Given the description of an element on the screen output the (x, y) to click on. 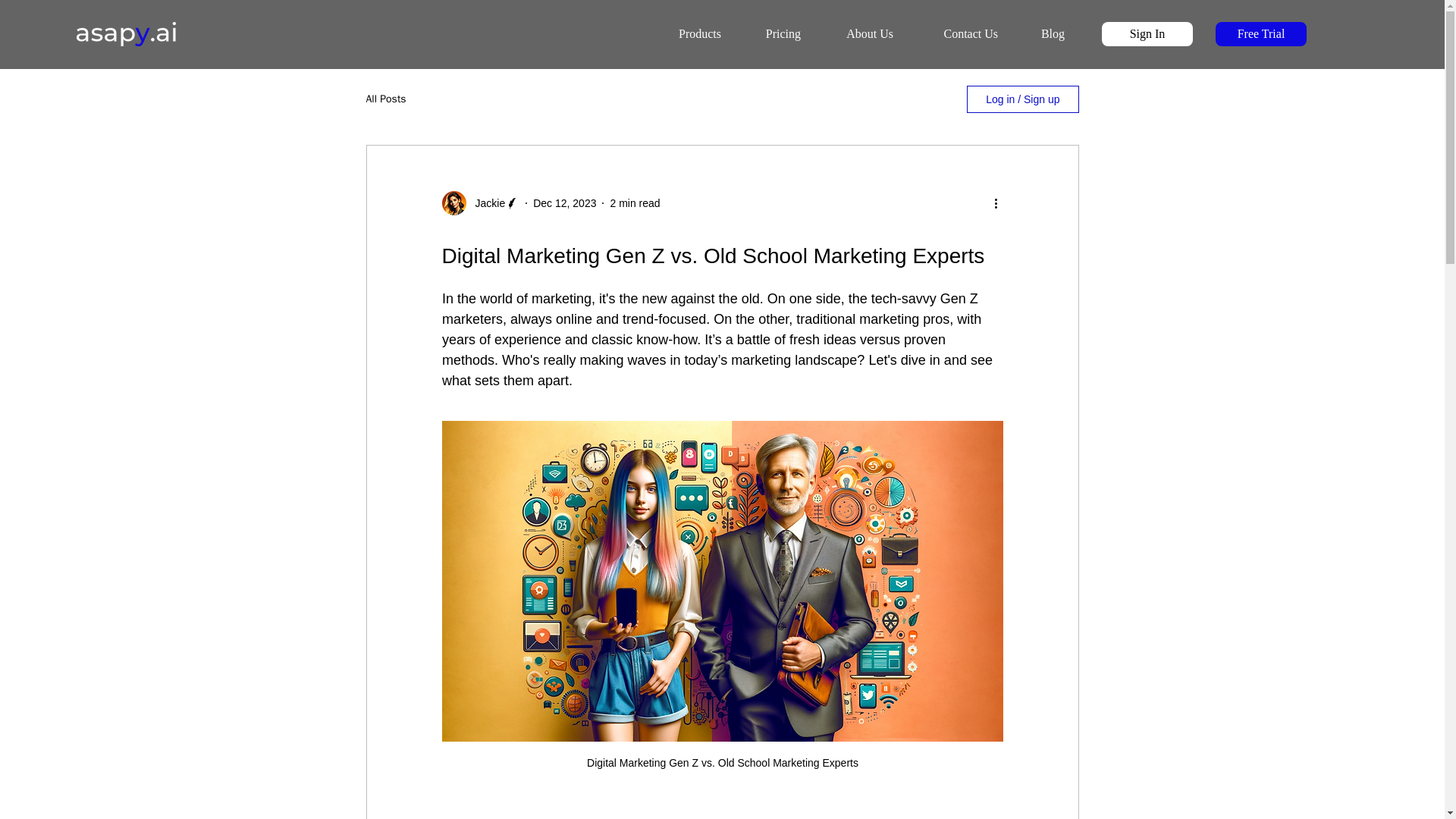
About Us (857, 34)
Sign In (1147, 33)
Blog (1040, 34)
Pricing (769, 34)
Free Trial (1260, 33)
Jackie (485, 203)
2 min read (634, 203)
Contact Us (955, 34)
All Posts (385, 99)
Dec 12, 2023 (563, 203)
